Given the description of an element on the screen output the (x, y) to click on. 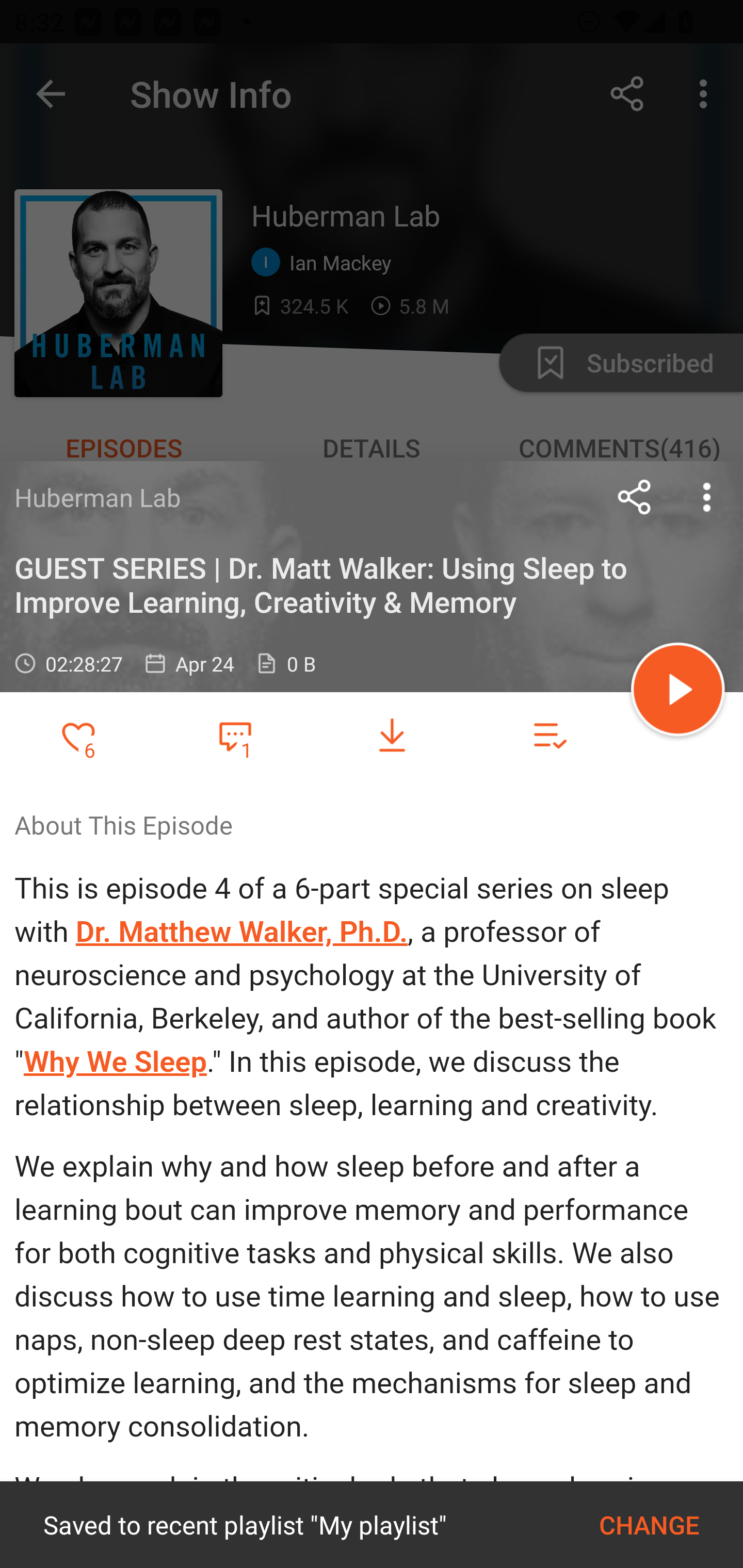
Share (634, 496)
more options (706, 496)
Play (677, 692)
1 Favorite (234, 735)
Add to Favorites (78, 735)
Download (391, 735)
Add to playlist (548, 735)
Dr. Matthew Walker, Ph.D. (241, 932)
Why We Sleep (114, 1062)
Saved to recent playlist "My playlist" CHANGE (371, 1524)
CHANGE (648, 1524)
